Given the description of an element on the screen output the (x, y) to click on. 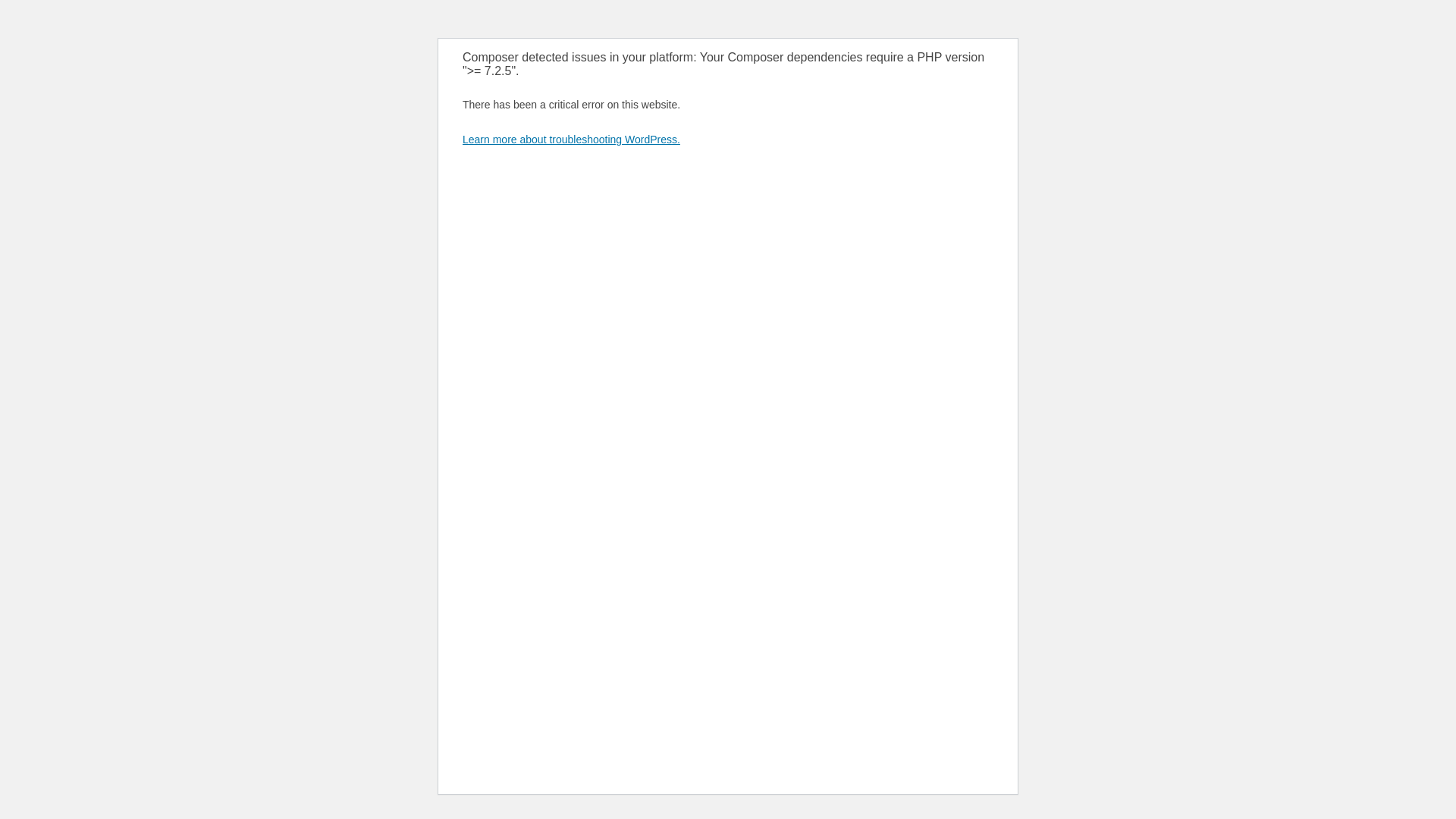
Learn more about troubleshooting WordPress. Element type: text (571, 139)
